Given the description of an element on the screen output the (x, y) to click on. 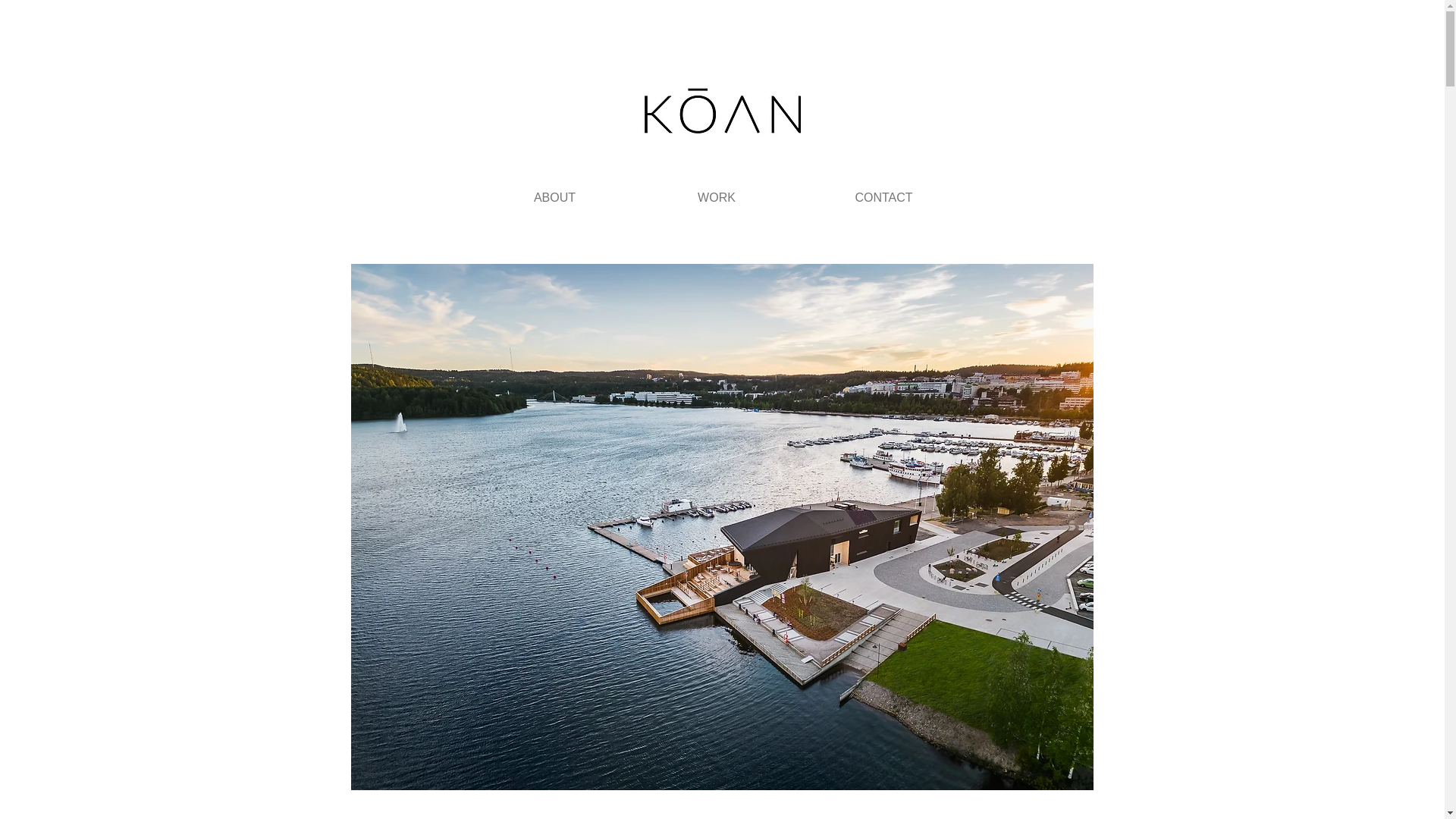
KOAN Architecture logo (721, 117)
ABOUT (555, 197)
WORK (716, 197)
CONTACT (883, 197)
